Given the description of an element on the screen output the (x, y) to click on. 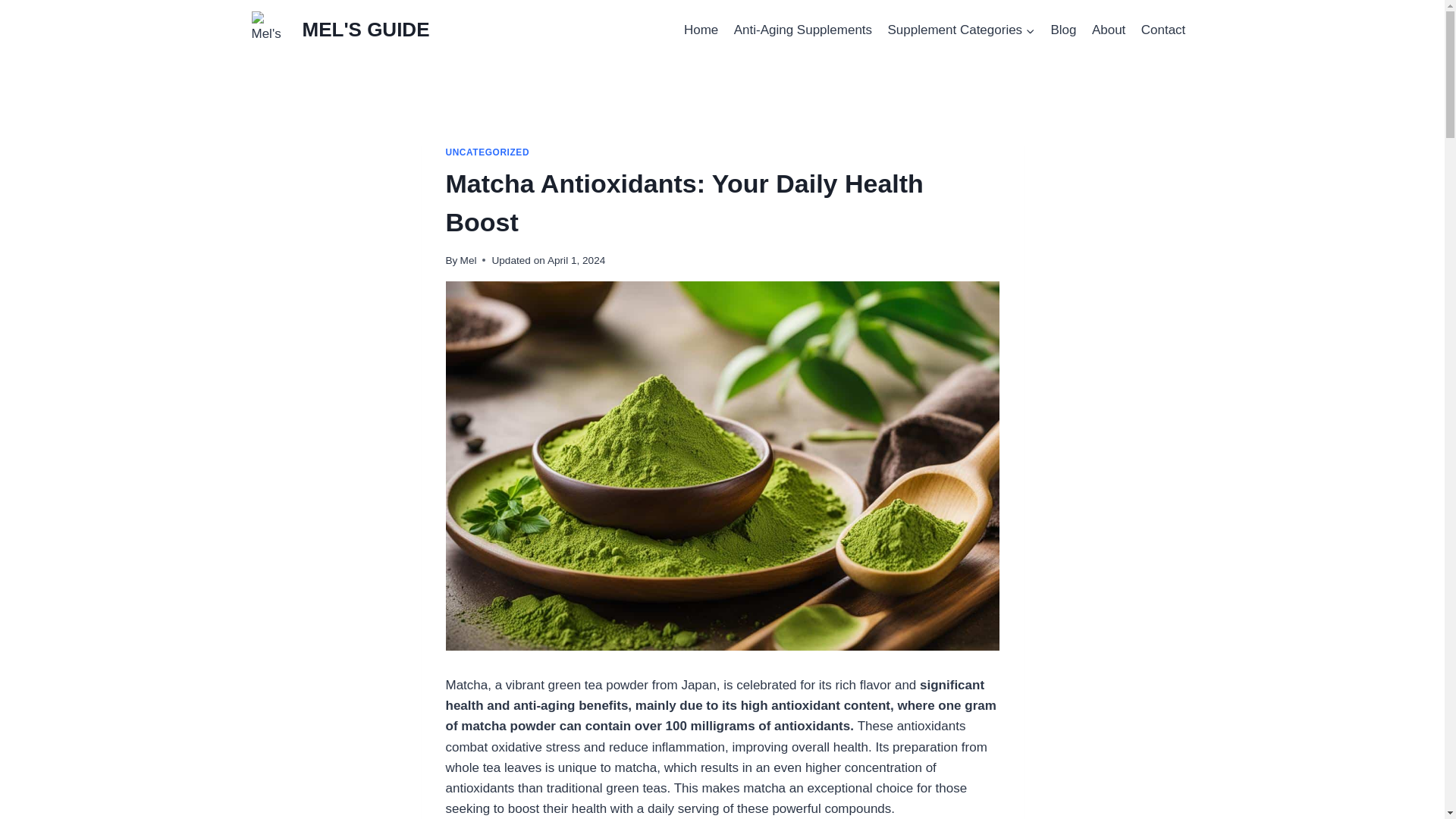
UNCATEGORIZED (487, 152)
Anti-Aging Supplements (803, 30)
Blog (1062, 30)
About (1109, 30)
Supplement Categories (960, 30)
Mel (468, 260)
MEL'S GUIDE (340, 30)
Home (701, 30)
Contact (1163, 30)
